Given the description of an element on the screen output the (x, y) to click on. 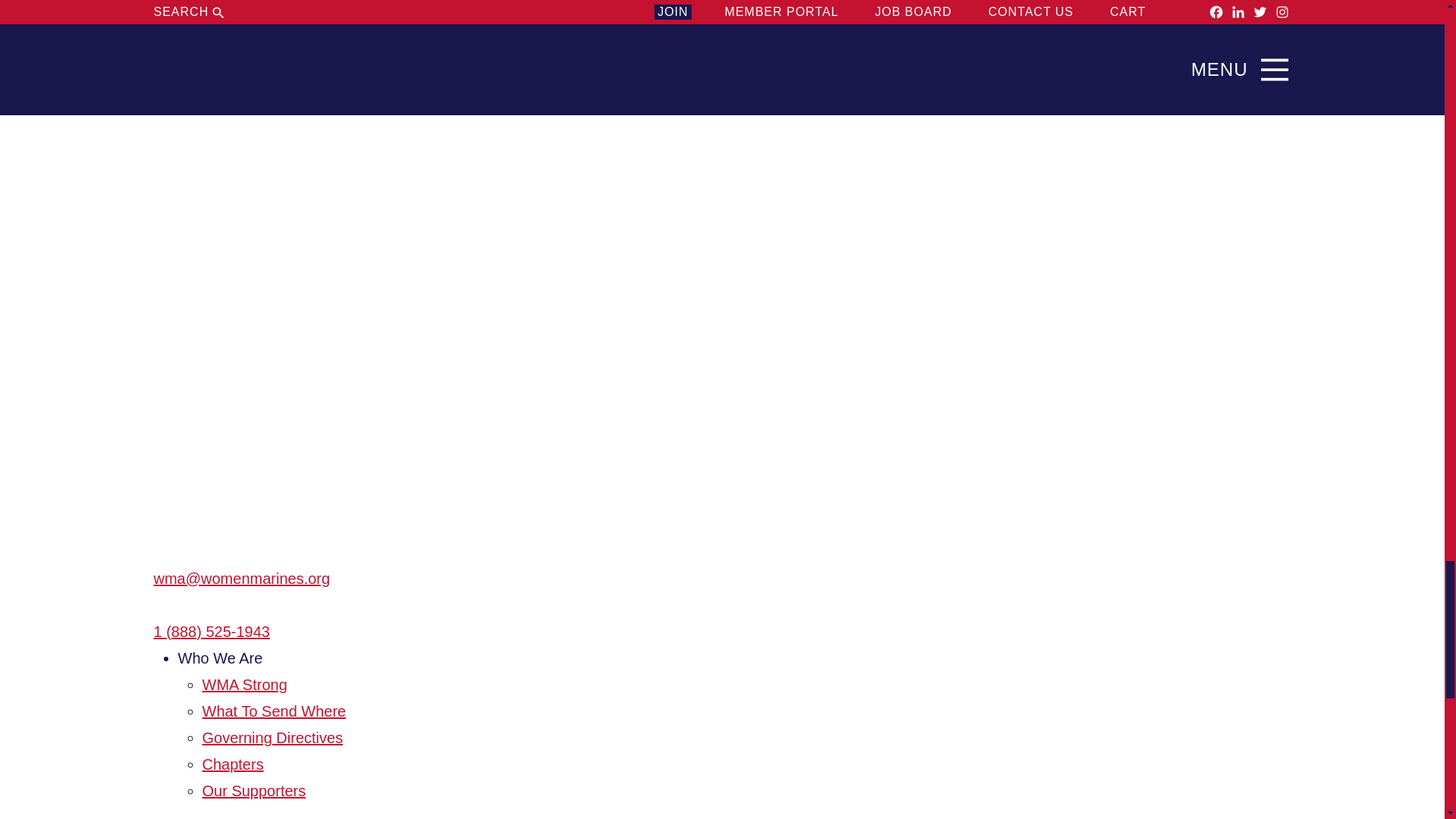
Phone (163, 605)
